Given the description of an element on the screen output the (x, y) to click on. 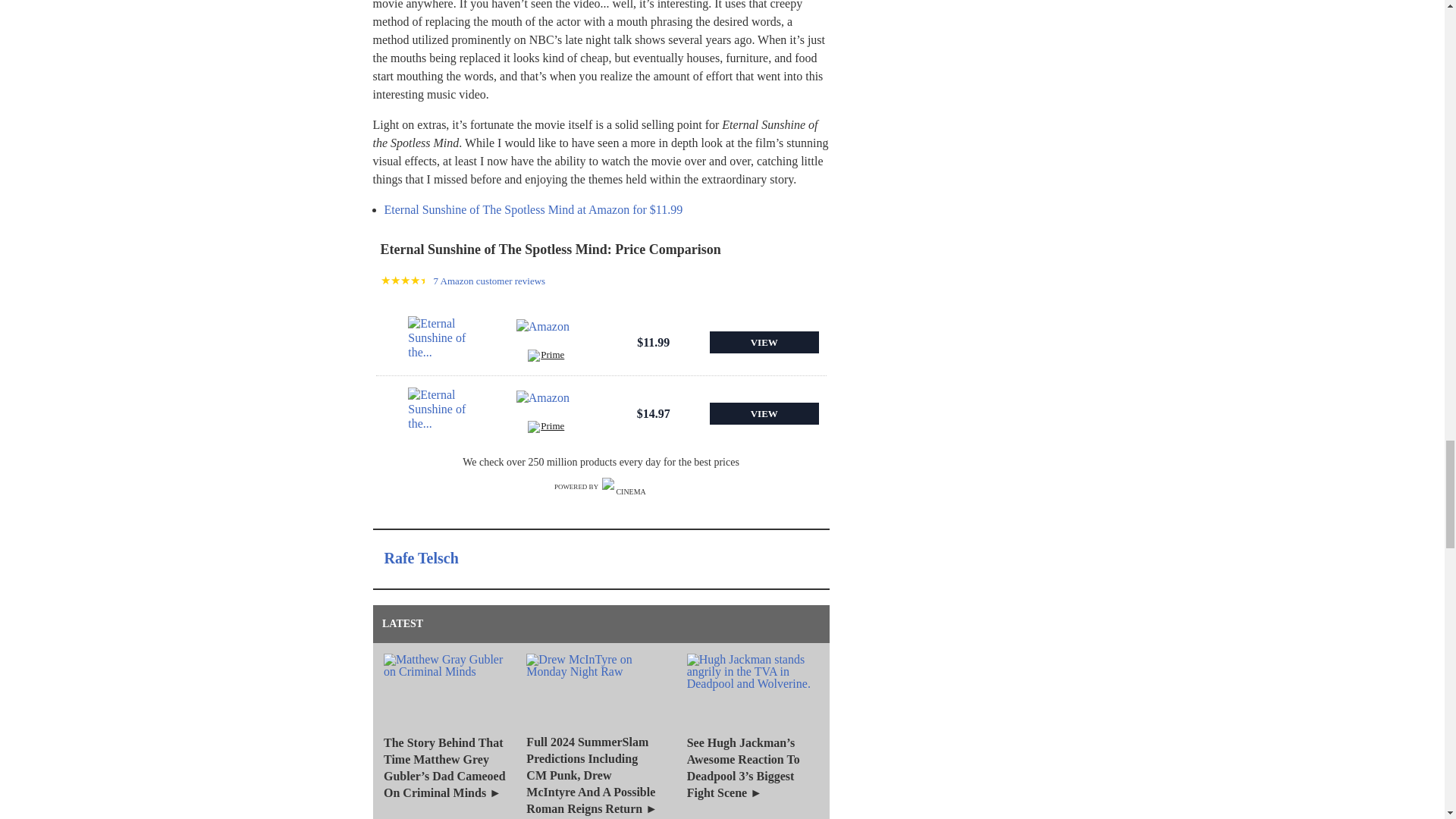
Cinemablend (624, 486)
Amazon (546, 405)
Prime (546, 428)
Eternal Sunshine of the... (437, 413)
Eternal Sunshine of the... (437, 342)
Prime (546, 357)
Amazon (546, 334)
